Given the description of an element on the screen output the (x, y) to click on. 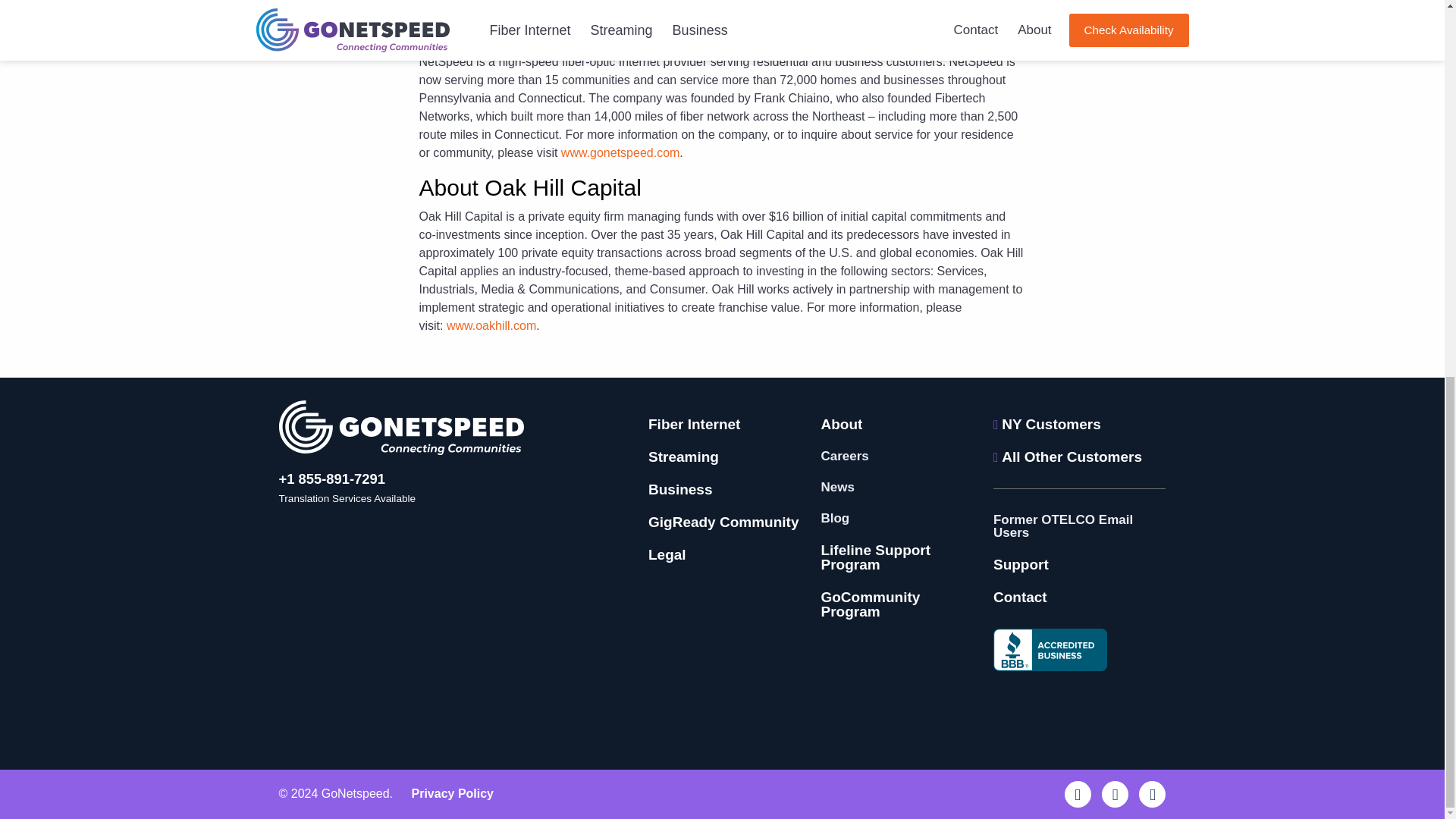
LinkedIn (1115, 794)
Facebook (1077, 794)
Instagram (1152, 794)
